Given the description of an element on the screen output the (x, y) to click on. 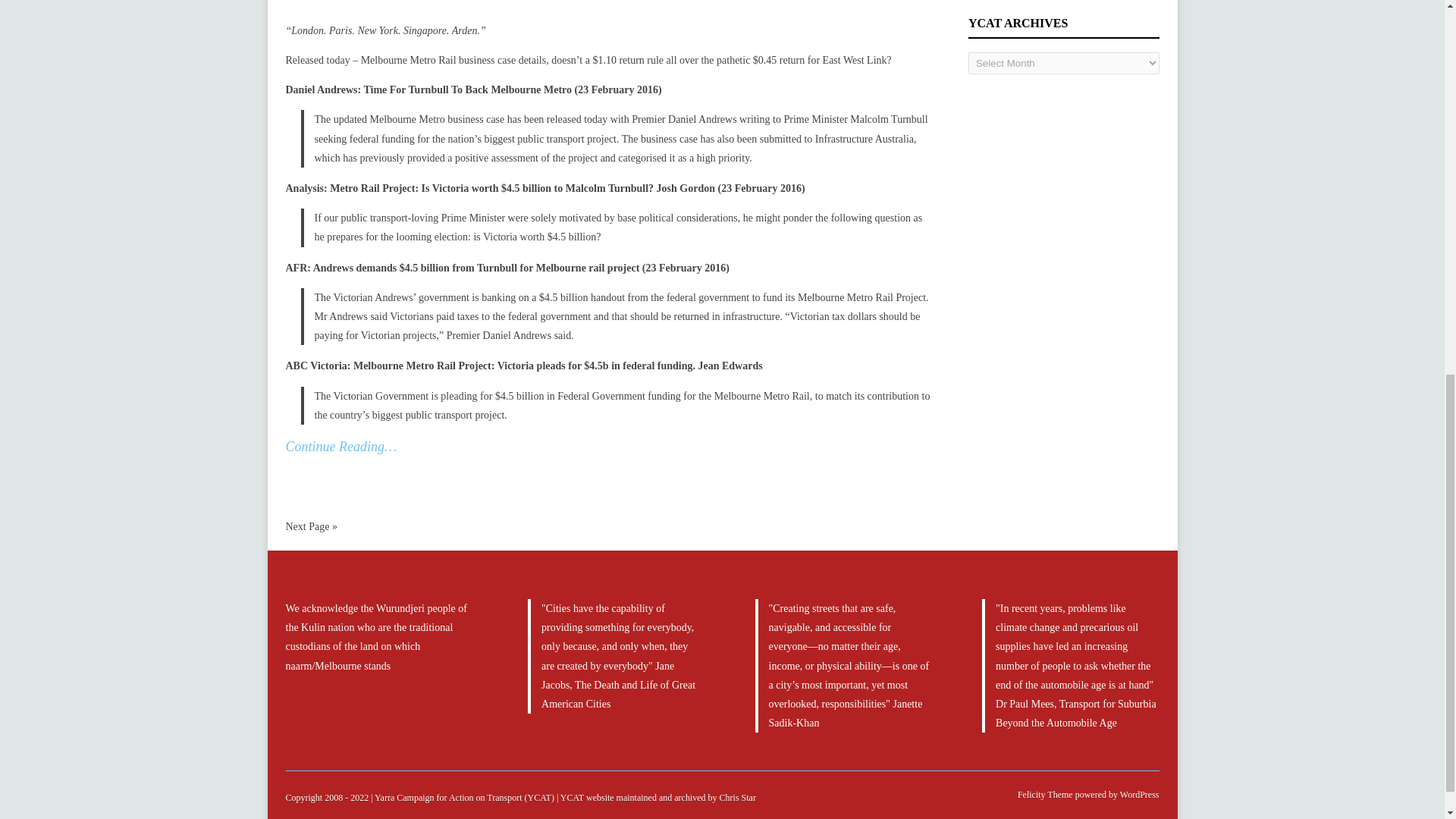
Time For Turnbull To Back Melbourne Metro (467, 89)
Felicity Theme (1045, 794)
WordPress (1138, 794)
Melbourne Metro Rail business case details (454, 60)
